Given the description of an element on the screen output the (x, y) to click on. 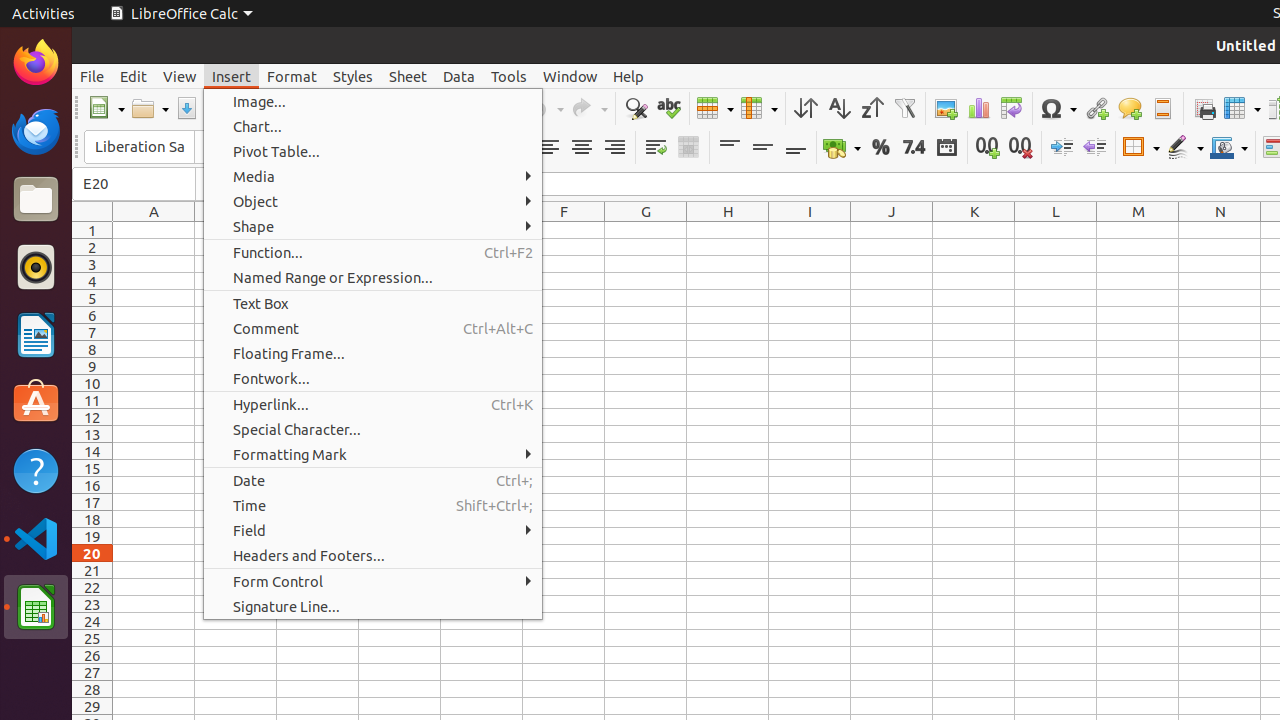
Format Element type: menu (292, 76)
Merge and Center Cells Element type: push-button (688, 147)
View Element type: menu (179, 76)
Row Element type: push-button (715, 108)
Increase Element type: push-button (1061, 147)
